Given the description of an element on the screen output the (x, y) to click on. 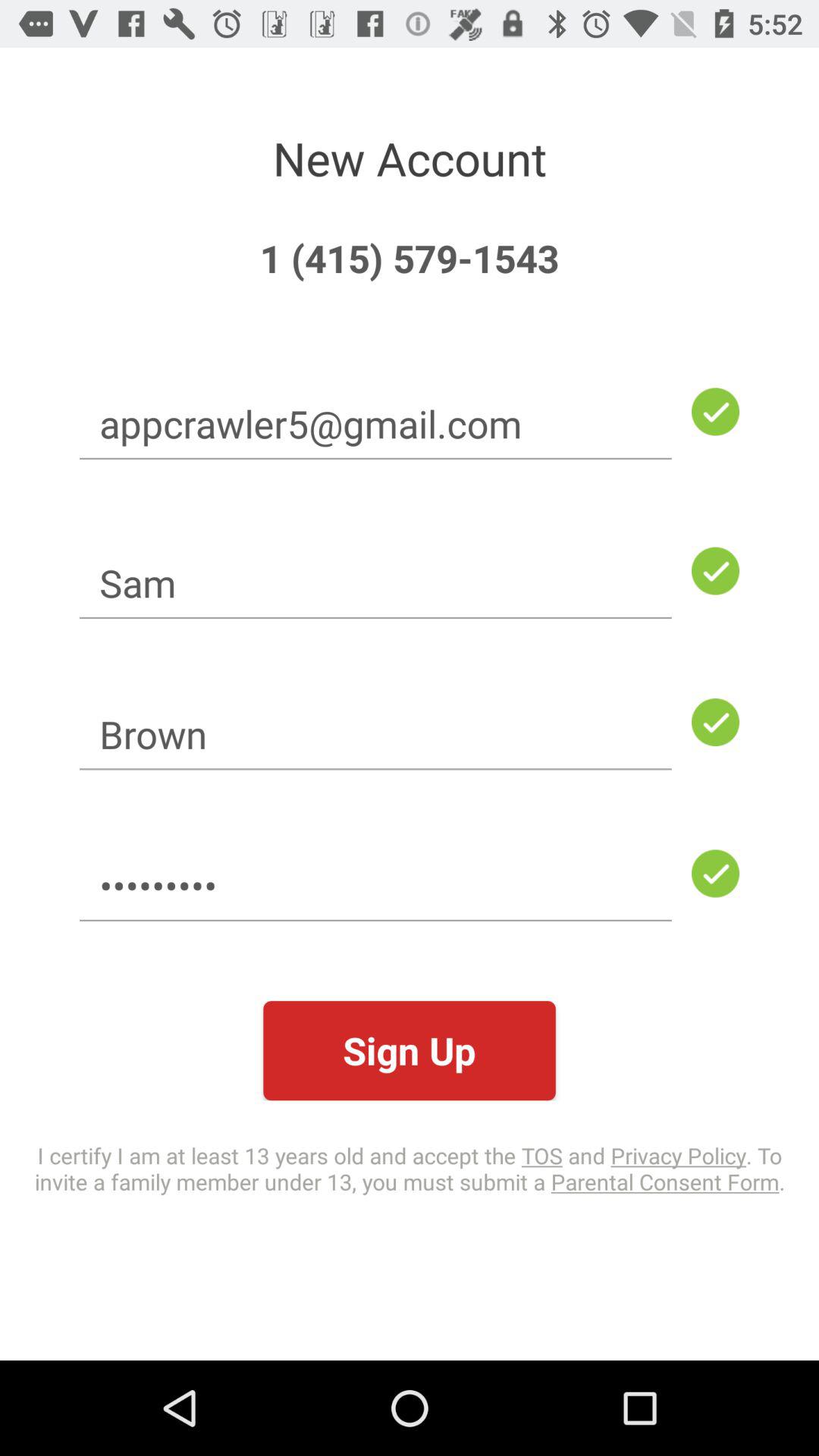
scroll to the sam icon (375, 582)
